Given the description of an element on the screen output the (x, y) to click on. 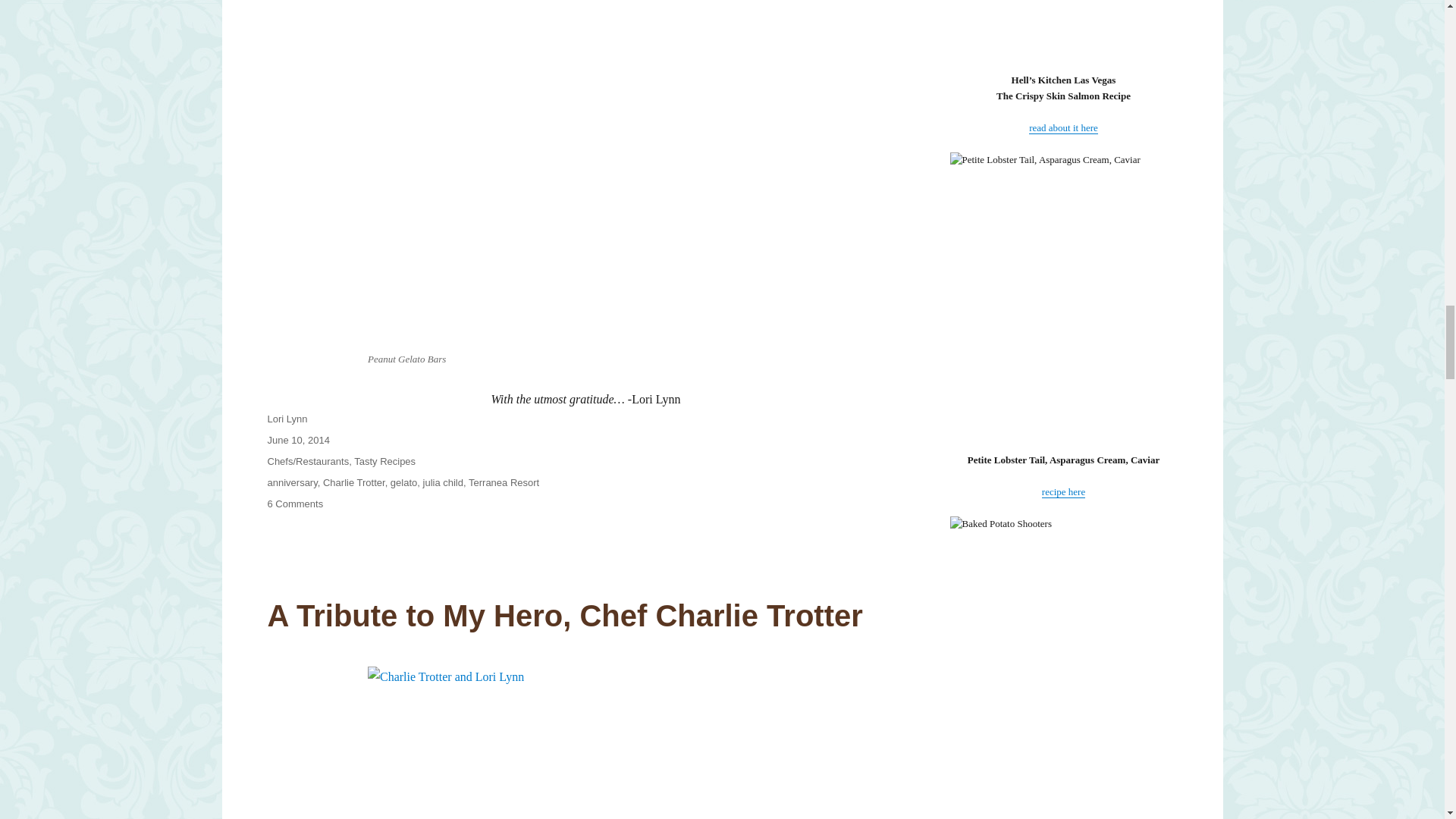
Tasty Recipes (383, 460)
Charlie Trotter (354, 482)
A Tribute to My Hero, Chef Charlie Trotter (563, 615)
June 10, 2014 (297, 439)
julia child (443, 482)
anniversary (291, 482)
Terranea Resort (503, 482)
gelato (403, 482)
Lori Lynn (286, 419)
